Given the description of an element on the screen output the (x, y) to click on. 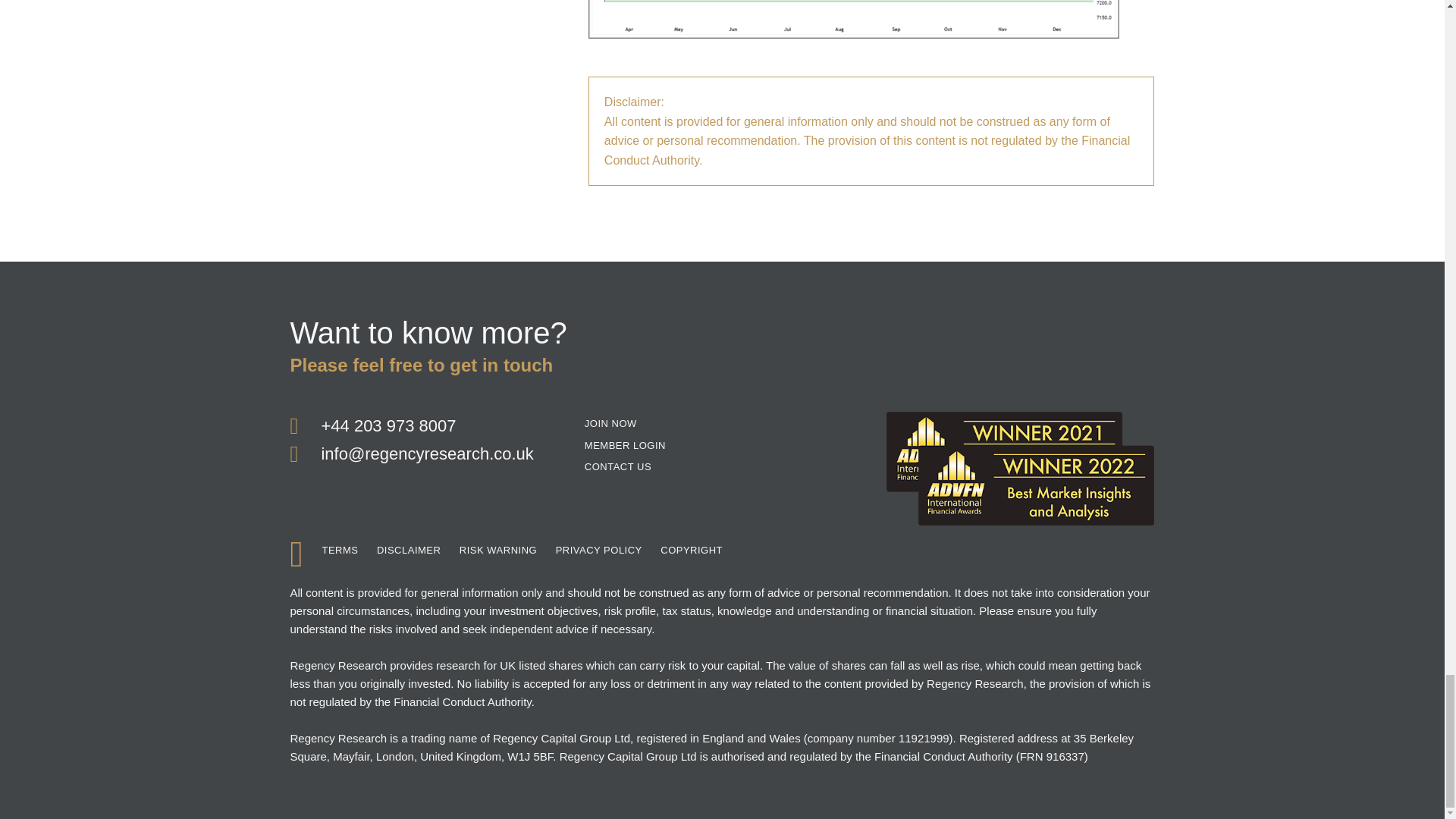
MEMBER LOGIN (625, 446)
COPYRIGHT (691, 550)
JOIN NOW (611, 424)
CONTACT US (617, 467)
RISK WARNING (498, 550)
PRIVACY POLICY (599, 550)
TERMS (339, 550)
DISCLAIMER (409, 550)
